Given the description of an element on the screen output the (x, y) to click on. 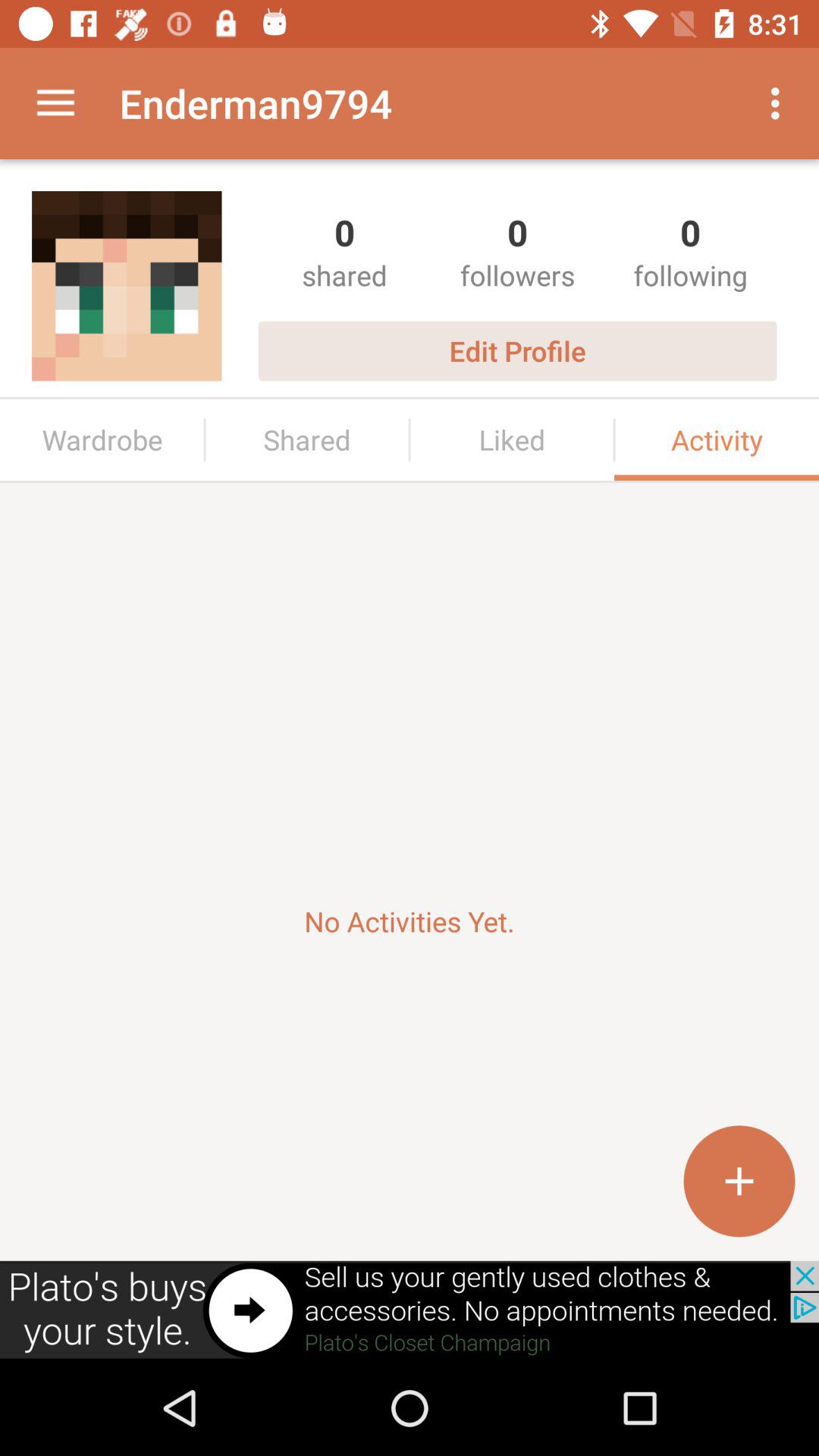
click to add option (739, 1181)
